Given the description of an element on the screen output the (x, y) to click on. 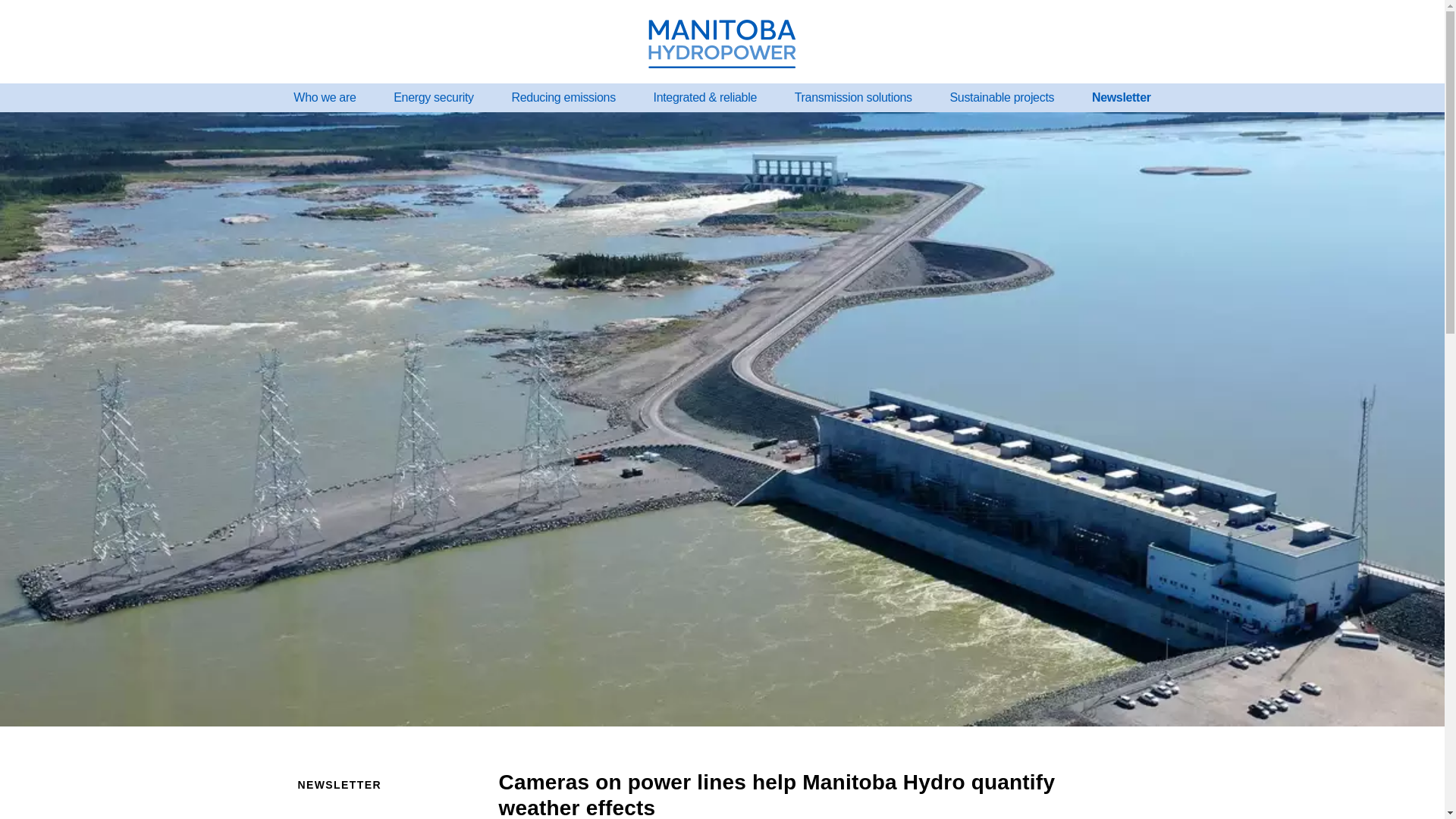
Energy security (433, 97)
Transmission solutions (853, 97)
Reducing emissions (562, 97)
Who we are (323, 97)
Volume 6, Issue 1 (382, 817)
NEWSLETTER (382, 784)
Sustainable projects (1001, 97)
Newsletter (1121, 97)
